Given the description of an element on the screen output the (x, y) to click on. 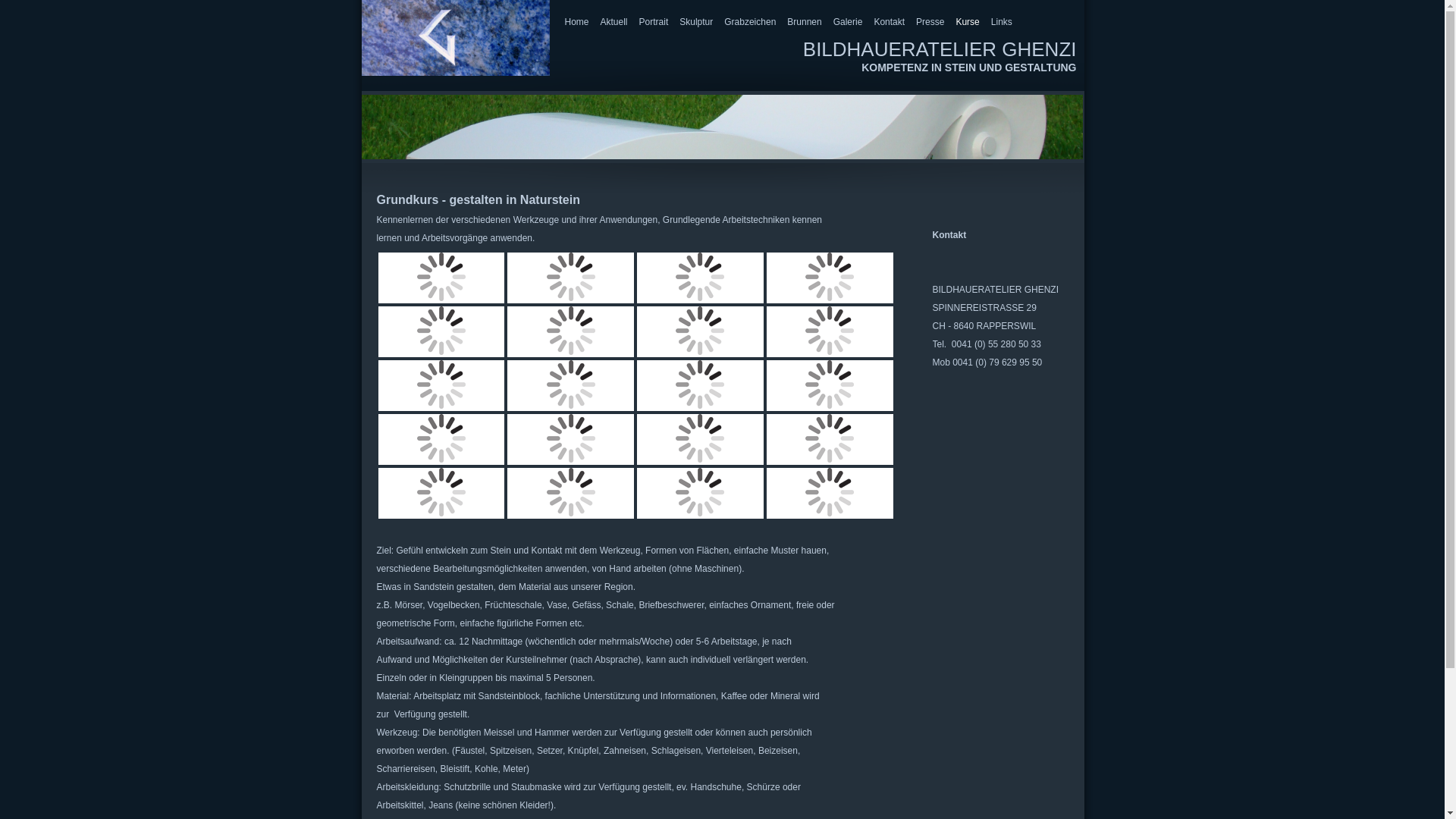
Portrait Element type: text (653, 21)
Kontakt Element type: text (888, 21)
Brunnen Element type: text (804, 21)
Grabzeichen Element type: text (749, 21)
Presse Element type: text (930, 21)
Aktuell Element type: text (613, 21)
Galerie Element type: text (847, 21)
Links Element type: text (1001, 21)
Home Element type: text (576, 21)
Kurse Element type: text (967, 21)
Skulptur Element type: text (695, 21)
